Given the description of an element on the screen output the (x, y) to click on. 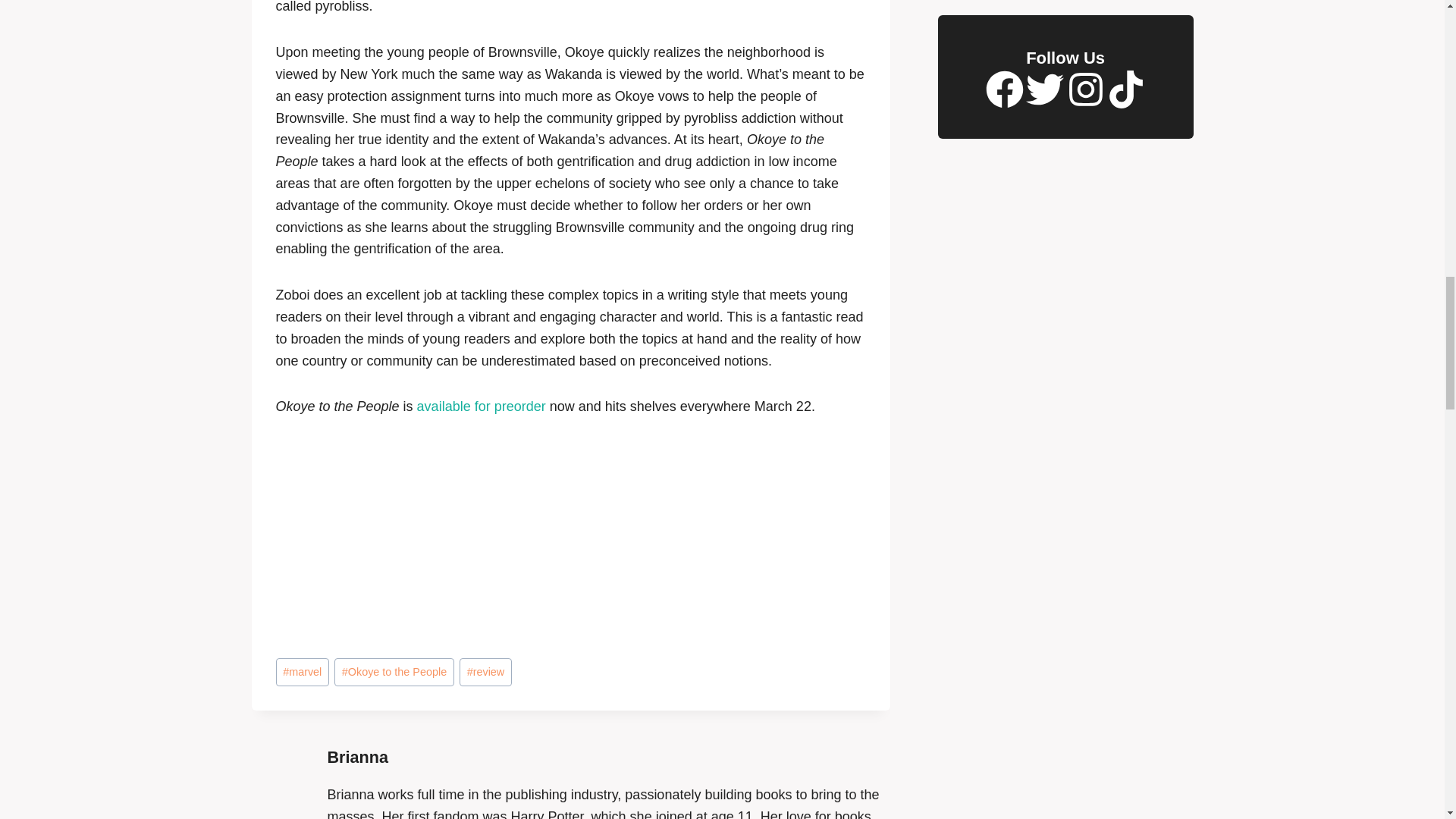
Posts by Brianna (357, 756)
Okoye to the People (394, 672)
marvel (302, 672)
review (486, 672)
